Given the description of an element on the screen output the (x, y) to click on. 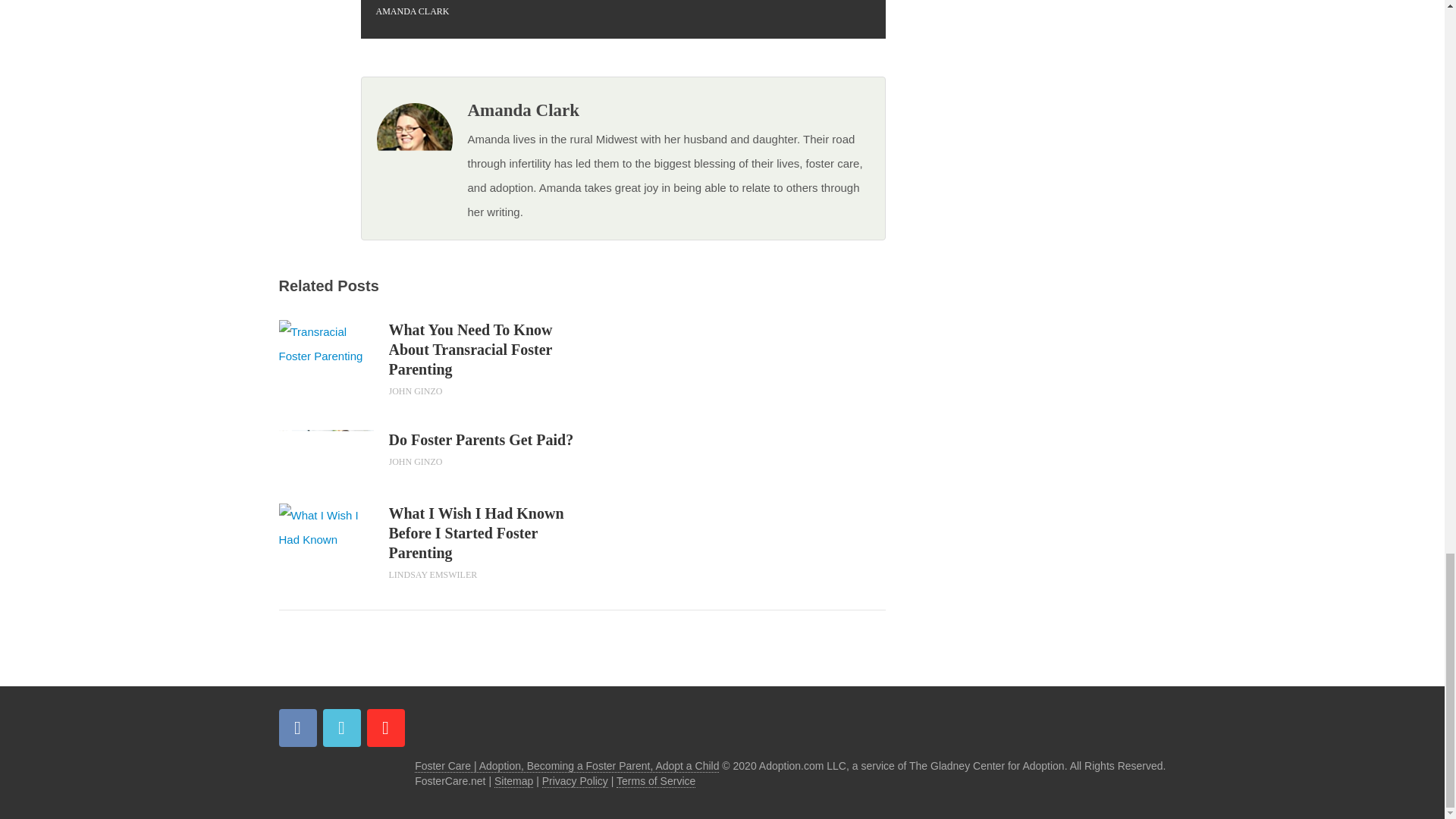
What I Wish I Had Known Before I Started Foster Parenting (484, 532)
AMANDA CLARK (412, 10)
JOHN GINZO (415, 461)
Posts by John Ginzo (415, 461)
Do Foster Parents Get Paid? (484, 439)
JOHN GINZO (415, 390)
What You Need To Know About Transracial Foster Parenting (484, 349)
Do Foster Parents Get Paid? (484, 439)
What You Need To Know About Transracial Foster Parenting (326, 343)
What I Wish I Had Known Before I Started Foster Parenting (484, 532)
